Given the description of an element on the screen output the (x, y) to click on. 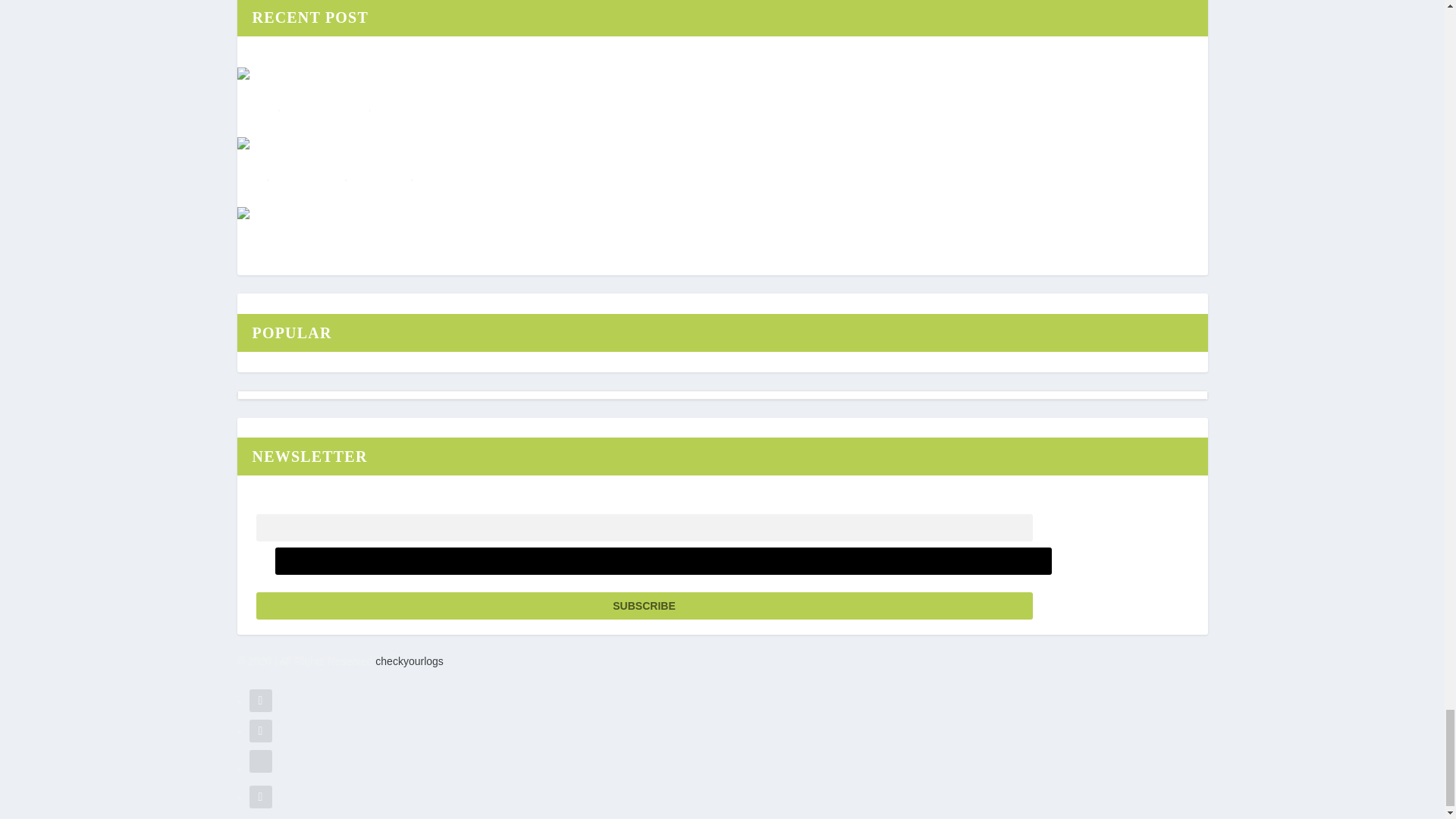
Subscribe (644, 605)
